Given the description of an element on the screen output the (x, y) to click on. 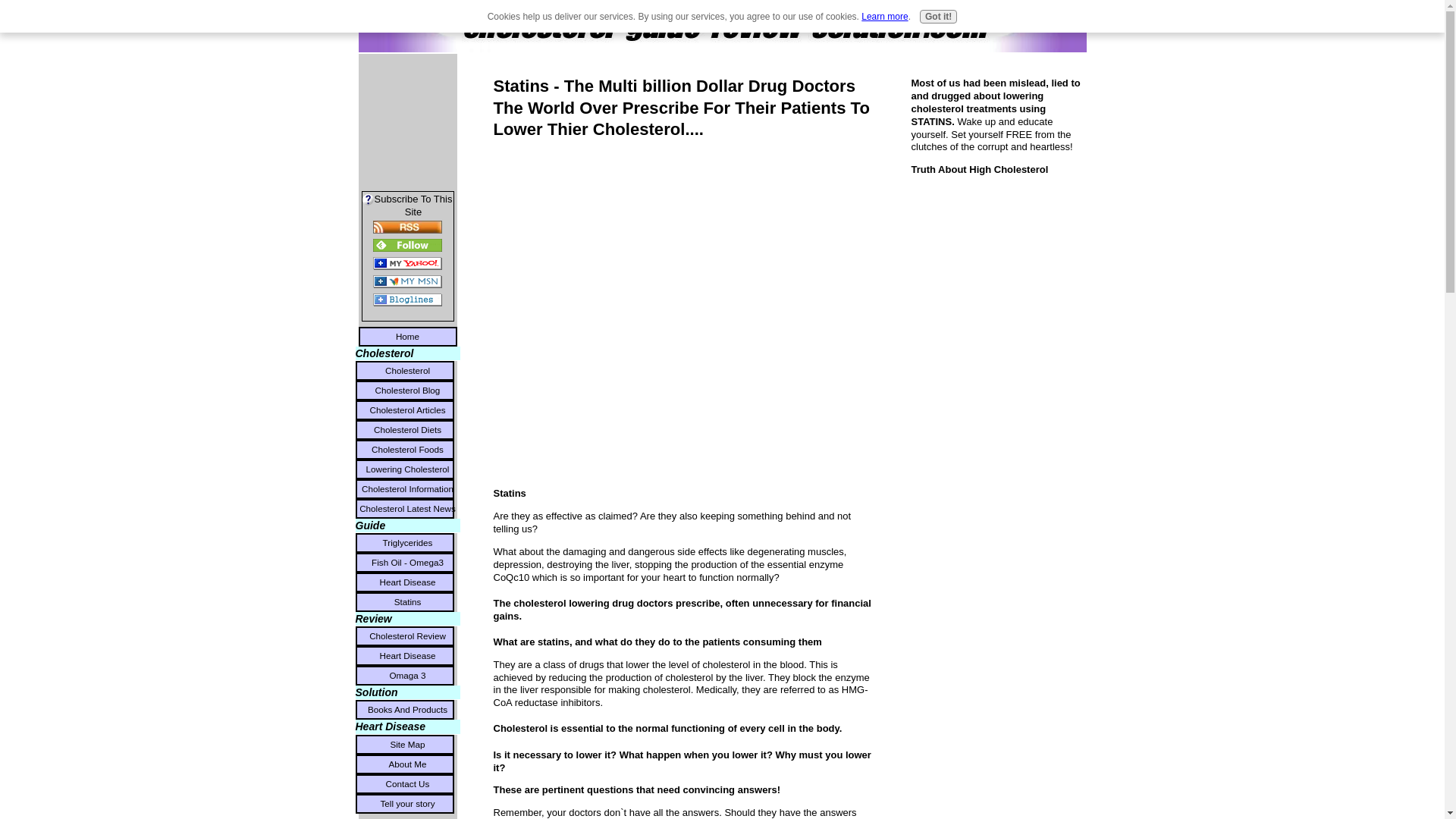
Cholesterol Information (407, 488)
Lowering Cholesterol Videos (407, 469)
Heart Disease (407, 582)
Cholesterol Review (407, 636)
Home (407, 336)
Contact Us (407, 783)
Site Map (407, 744)
Cholesterol Diets (407, 429)
Cholesterol Blog (407, 390)
Tell your story (407, 803)
Cholesterol Articles (407, 410)
Cholesterol (407, 370)
Triglycerides (407, 542)
Learn more (884, 16)
Omaga 3 (407, 675)
